Given the description of an element on the screen output the (x, y) to click on. 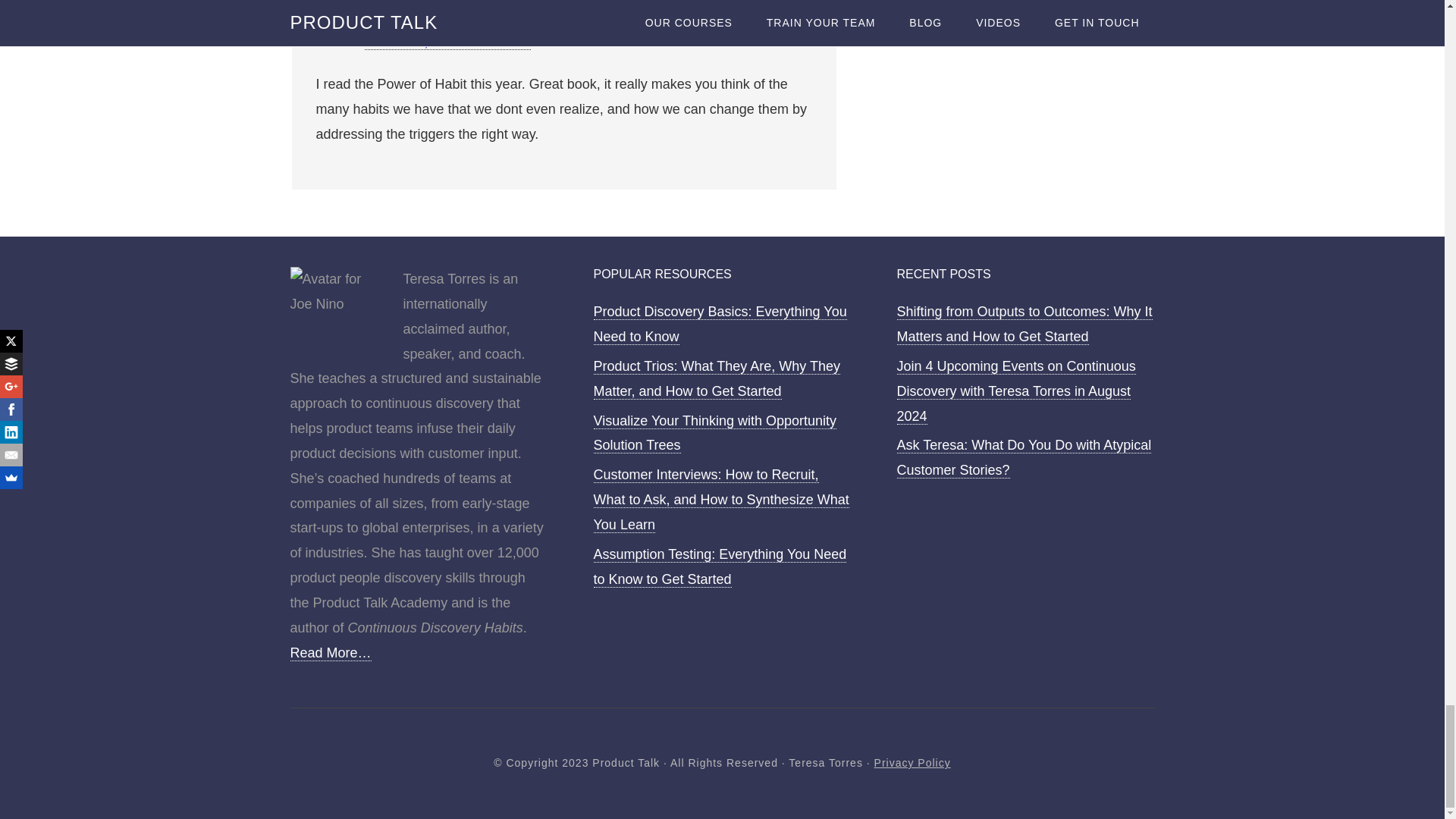
October 3, 2019 at 5:54 am (446, 41)
